Given the description of an element on the screen output the (x, y) to click on. 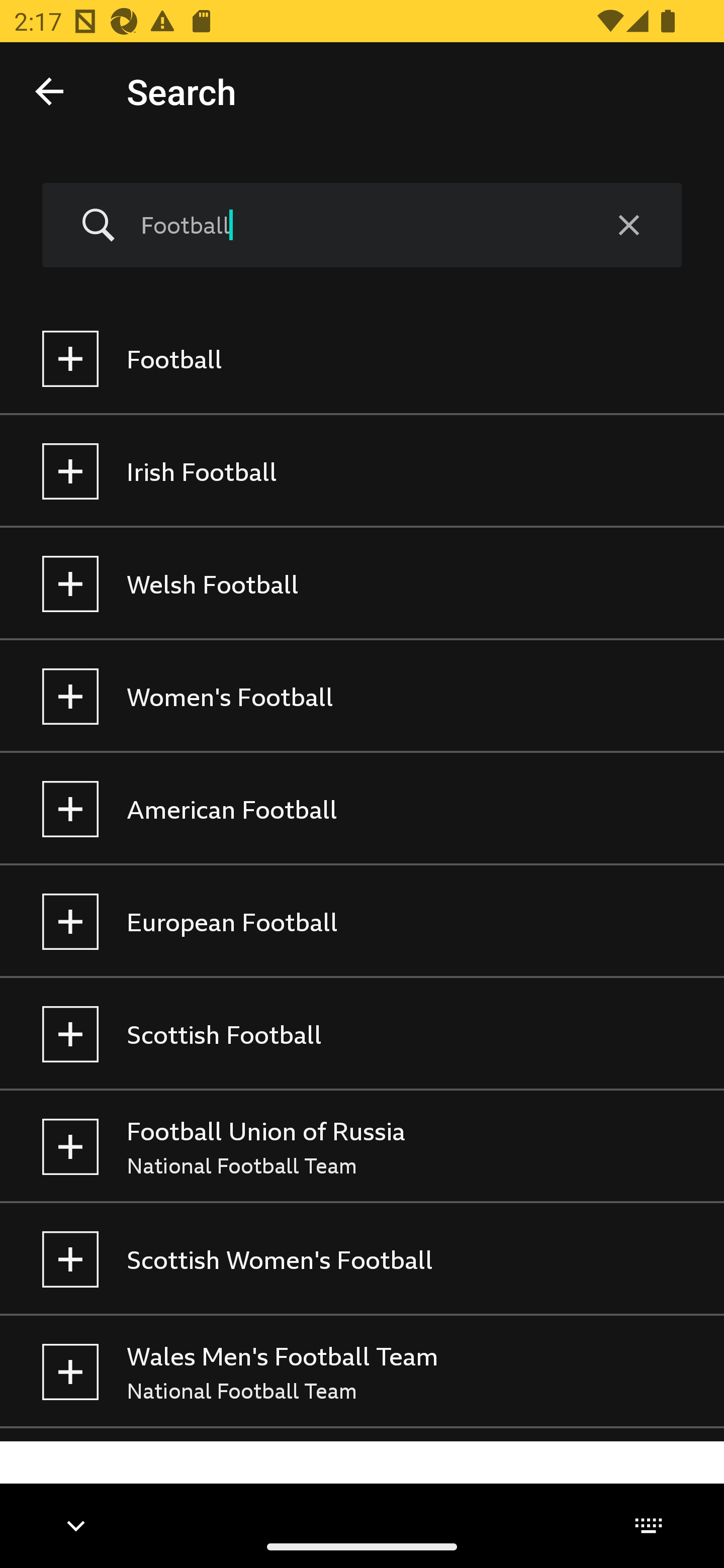
Done (49, 90)
Football Clear query (361, 225)
Clear query (628, 225)
Football (358, 224)
Football (362, 358)
Irish Football (362, 471)
Welsh Football (362, 583)
Women's Football (362, 695)
American Football (362, 808)
European Football (362, 921)
Scottish Football (362, 1034)
Scottish Women's Football (362, 1258)
